Given the description of an element on the screen output the (x, y) to click on. 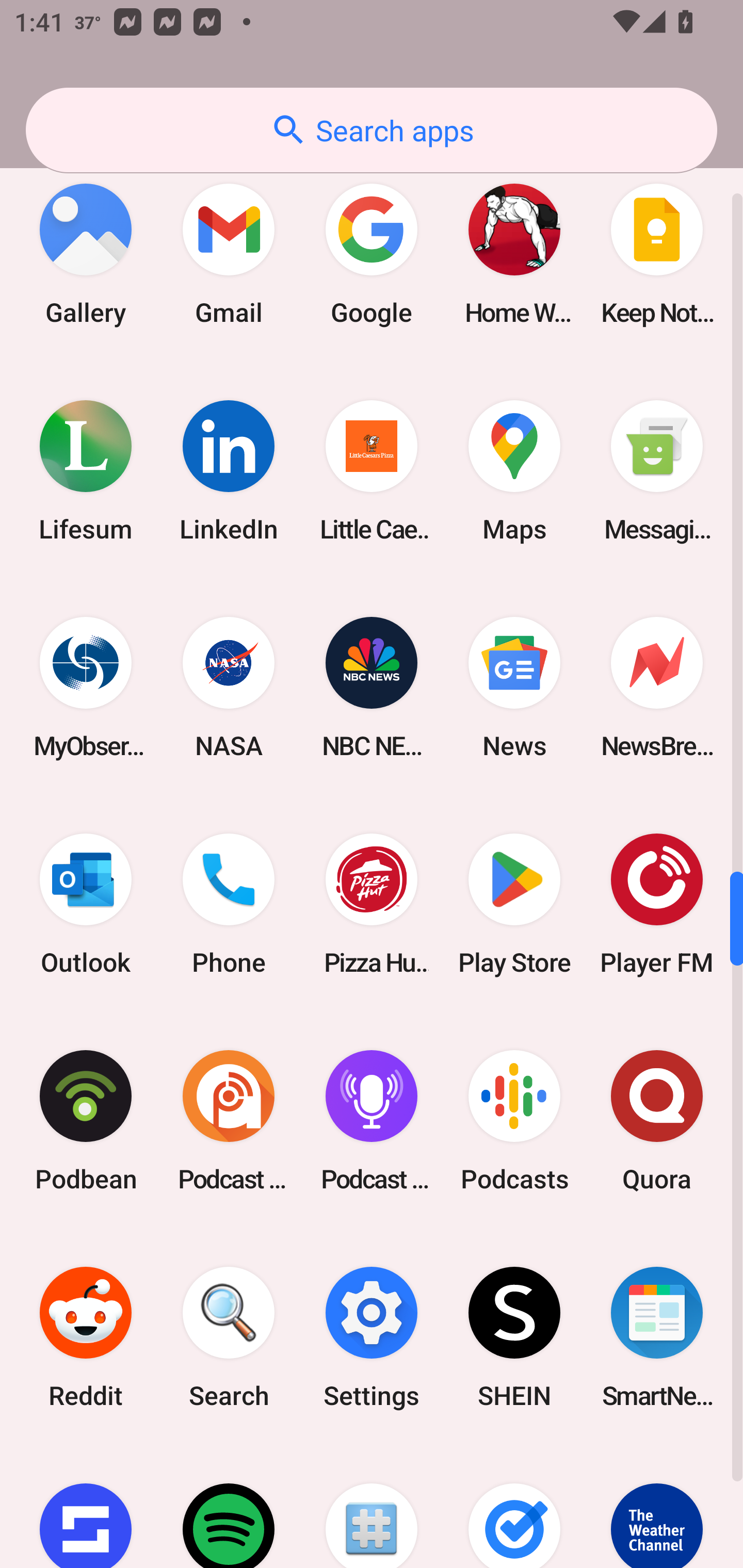
  Search apps (371, 130)
Gallery (85, 253)
Gmail (228, 253)
Google (371, 253)
Home Workout (514, 253)
Keep Notes (656, 253)
Lifesum (85, 470)
LinkedIn (228, 470)
Little Caesars Pizza (371, 470)
Maps (514, 470)
Messaging (656, 470)
MyObservatory (85, 687)
NASA (228, 687)
NBC NEWS (371, 687)
News (514, 687)
NewsBreak (656, 687)
Outlook (85, 904)
Phone (228, 904)
Pizza Hut HK & Macau (371, 904)
Play Store (514, 904)
Player FM (656, 904)
Podbean (85, 1120)
Podcast Addict (228, 1120)
Podcast Player (371, 1120)
Podcasts (514, 1120)
Quora (656, 1120)
Reddit (85, 1337)
Search (228, 1337)
Settings (371, 1337)
SHEIN (514, 1337)
SmartNews (656, 1337)
Sofascore (85, 1506)
Spotify (228, 1506)
Superuser (371, 1506)
Tasks (514, 1506)
The Weather Channel (656, 1506)
